Given the description of an element on the screen output the (x, y) to click on. 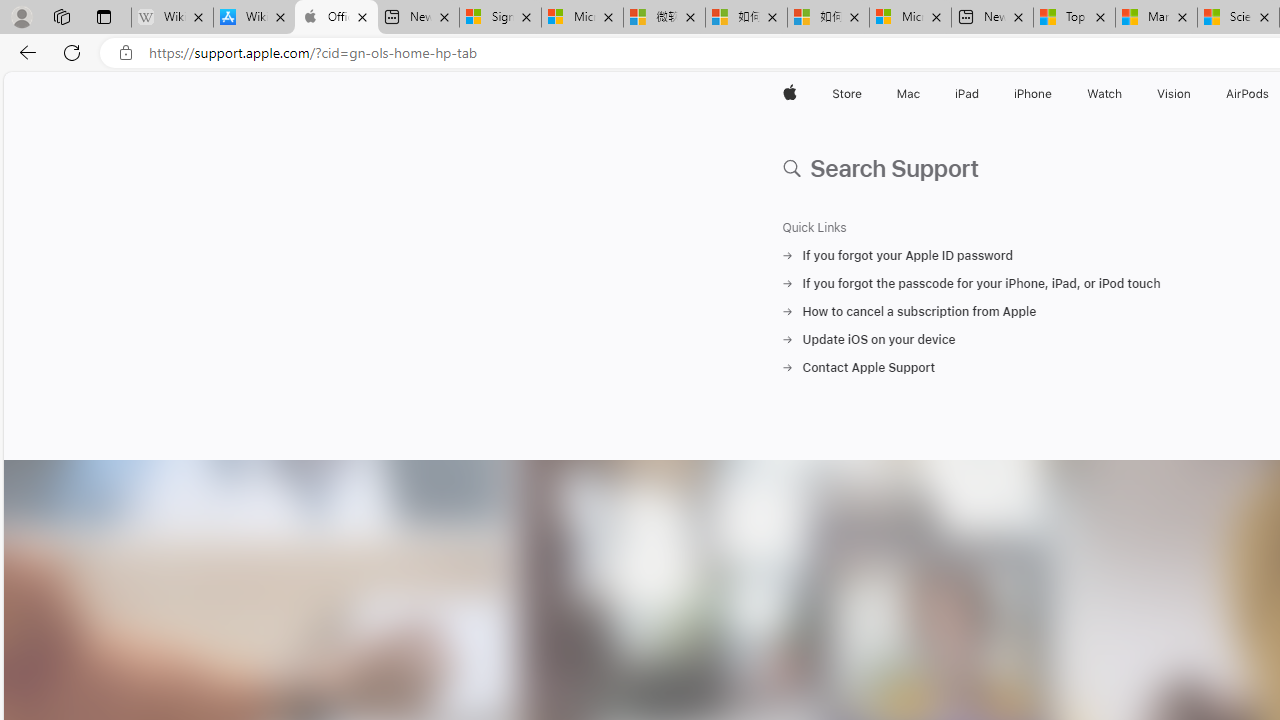
Store (846, 93)
iPhone (1033, 93)
iPhone menu (1055, 93)
Store (846, 93)
Mac menu (922, 93)
Mac (908, 93)
